Given the description of an element on the screen output the (x, y) to click on. 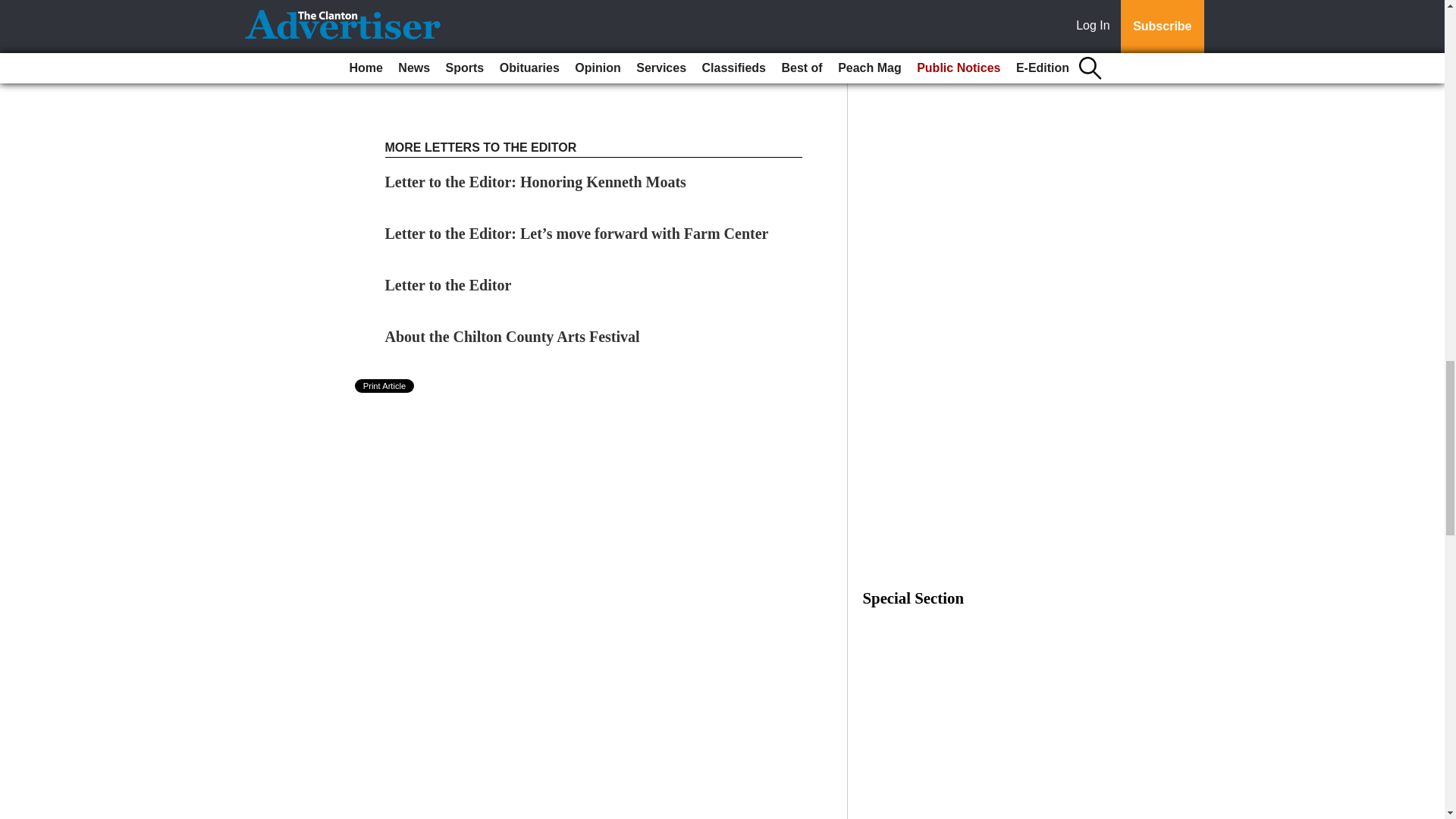
Letter to the Editor: Honoring Kenneth Moats (535, 181)
Print Article (384, 386)
Letter to the Editor: Honoring Kenneth Moats (535, 181)
Letter to the Editor  (450, 284)
About the Chilton County Arts Festival (512, 336)
About the Chilton County Arts Festival (512, 336)
